Given the description of an element on the screen output the (x, y) to click on. 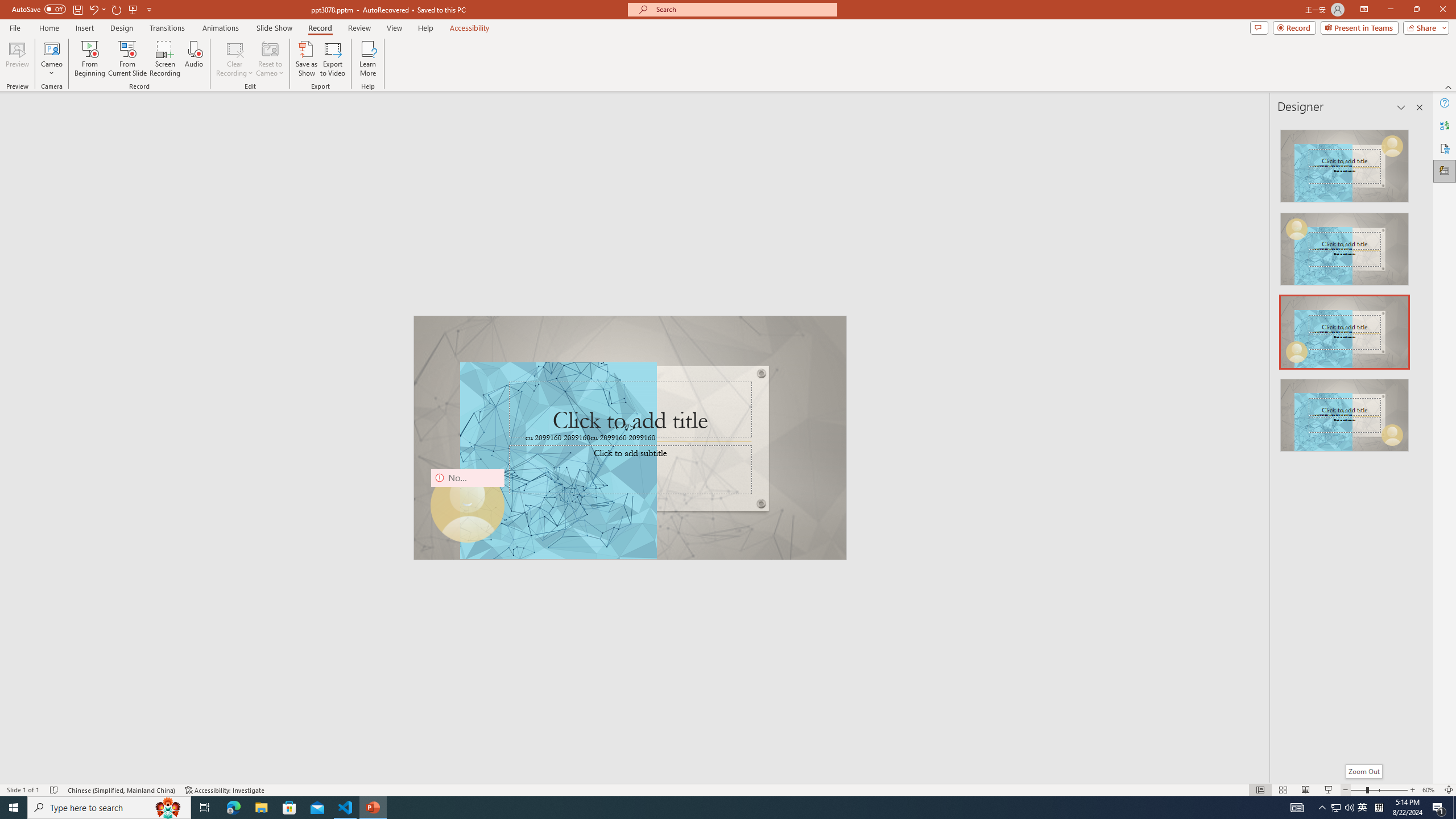
Learn More (368, 58)
Subtitle TextBox (630, 469)
From Current Slide... (127, 58)
File Tab (15, 27)
Save as Show (306, 58)
Collapse the Ribbon (1448, 86)
Present in Teams (1359, 27)
Ribbon Display Options (1364, 9)
Zoom (1379, 790)
Task Pane Options (1400, 107)
Save (77, 9)
